Given the description of an element on the screen output the (x, y) to click on. 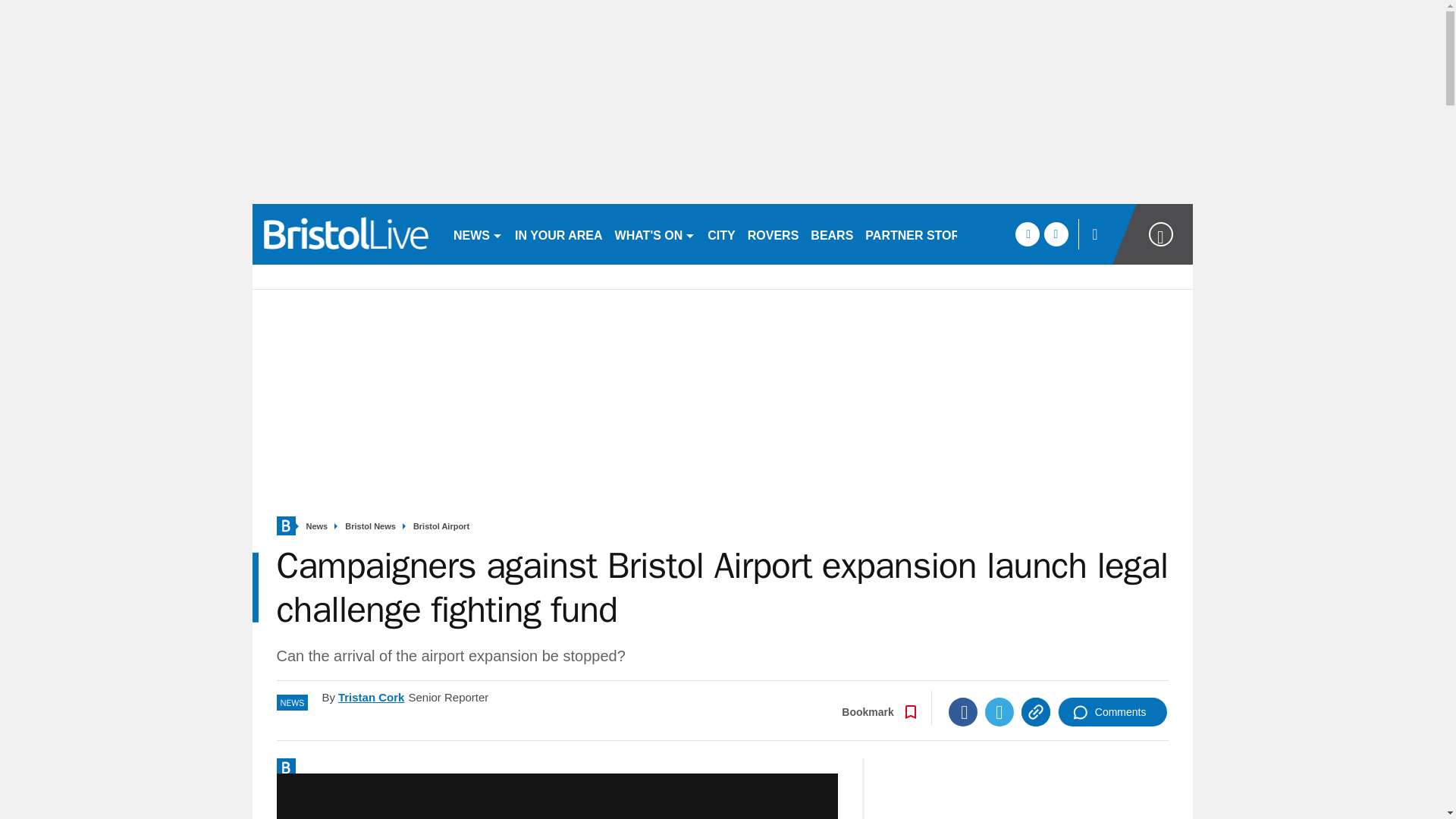
Twitter (999, 711)
facebook (1026, 233)
BEARS (832, 233)
ROVERS (773, 233)
PARTNER STORIES (922, 233)
IN YOUR AREA (558, 233)
Comments (1112, 711)
bristolpost (345, 233)
Facebook (962, 711)
NEWS (477, 233)
twitter (1055, 233)
WHAT'S ON (654, 233)
